Given the description of an element on the screen output the (x, y) to click on. 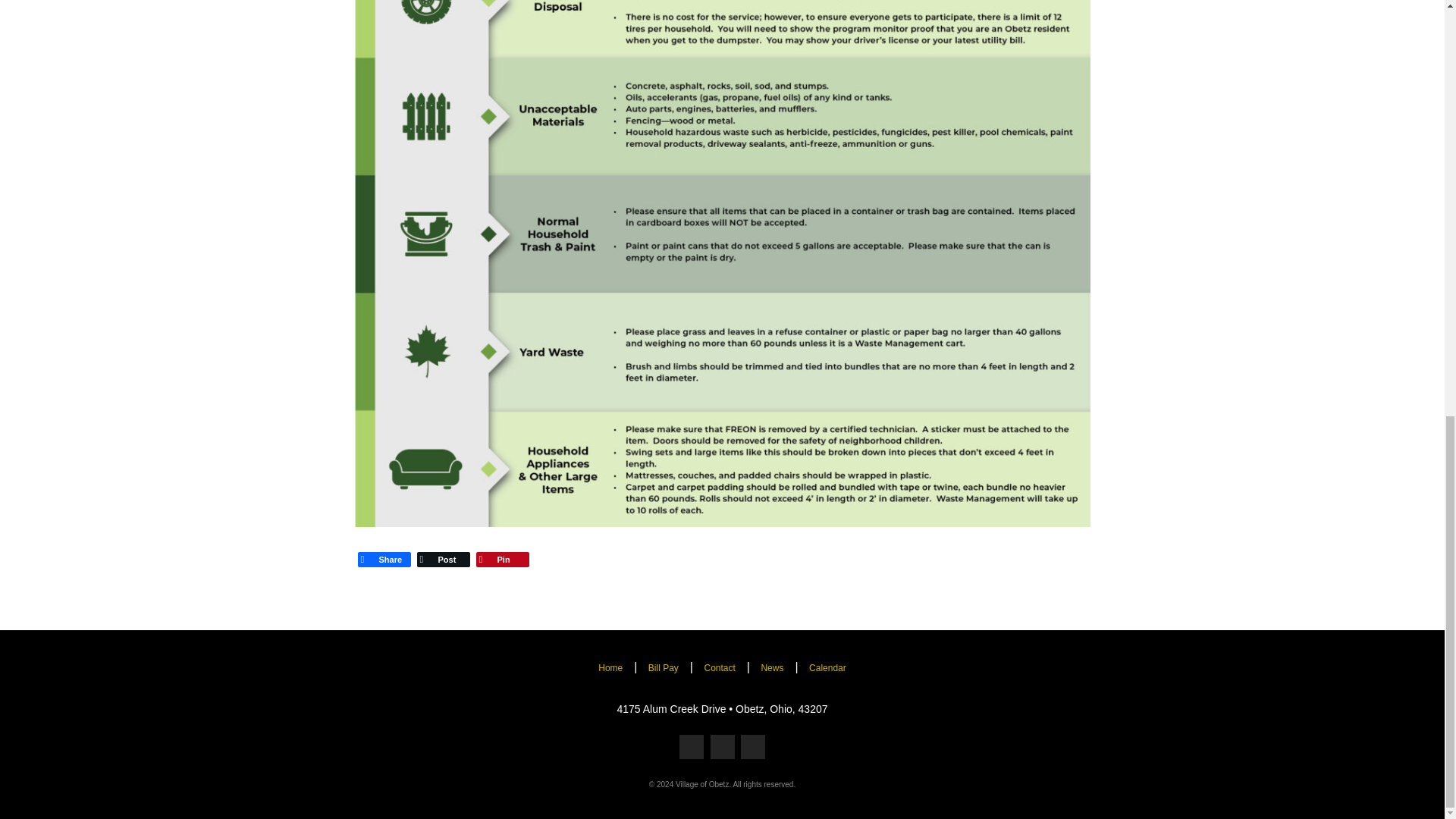
Pinterest (502, 559)
Facebook (384, 559)
